Given the description of an element on the screen output the (x, y) to click on. 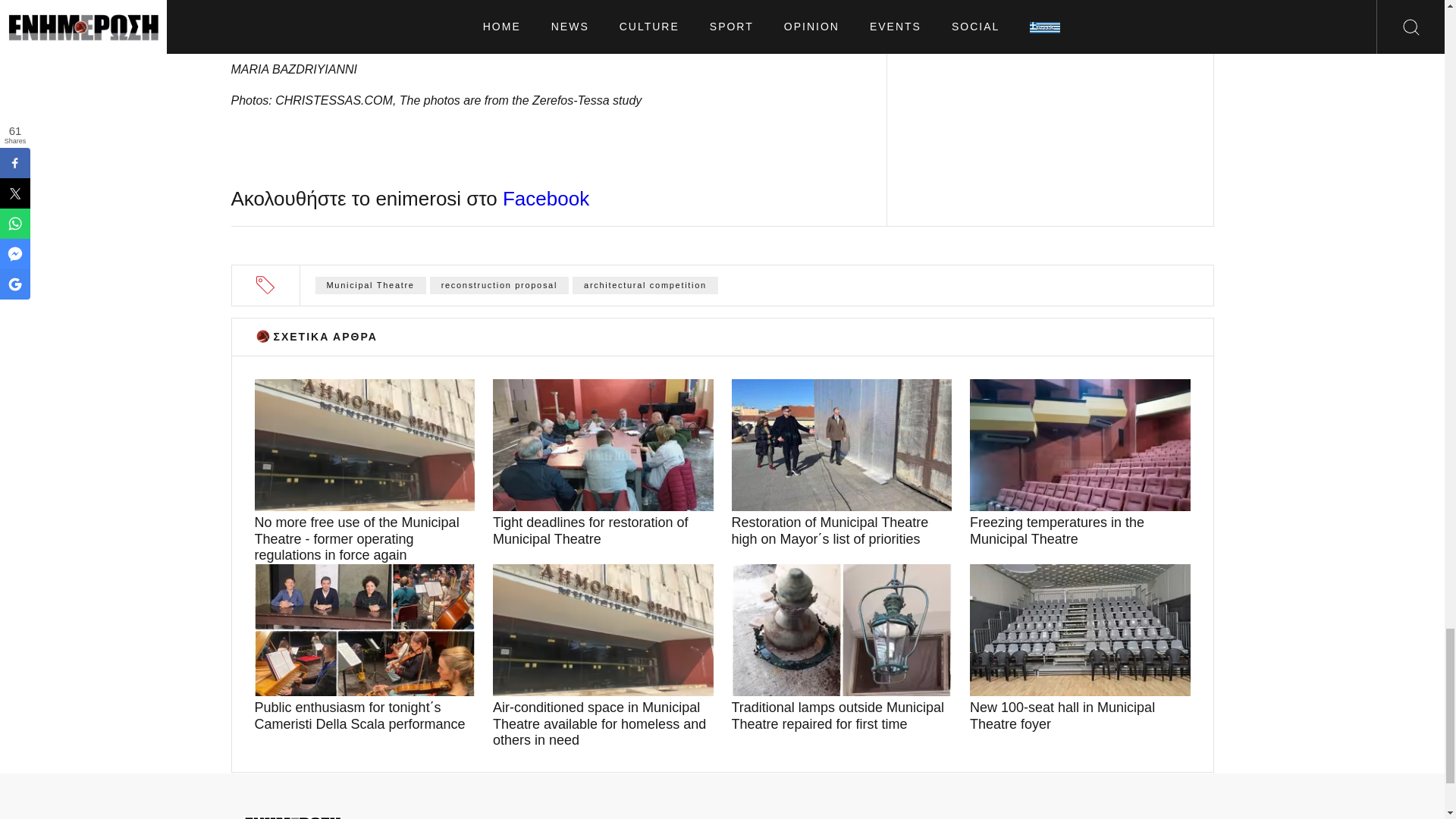
architectural competition (644, 285)
Tight deadlines for restoration of Municipal Theatre (603, 531)
Facebook (545, 198)
Freezing temperatures in the Municipal Theatre (1080, 531)
reconstruction proposal (499, 285)
Municipal Theatre (370, 285)
